Given the description of an element on the screen output the (x, y) to click on. 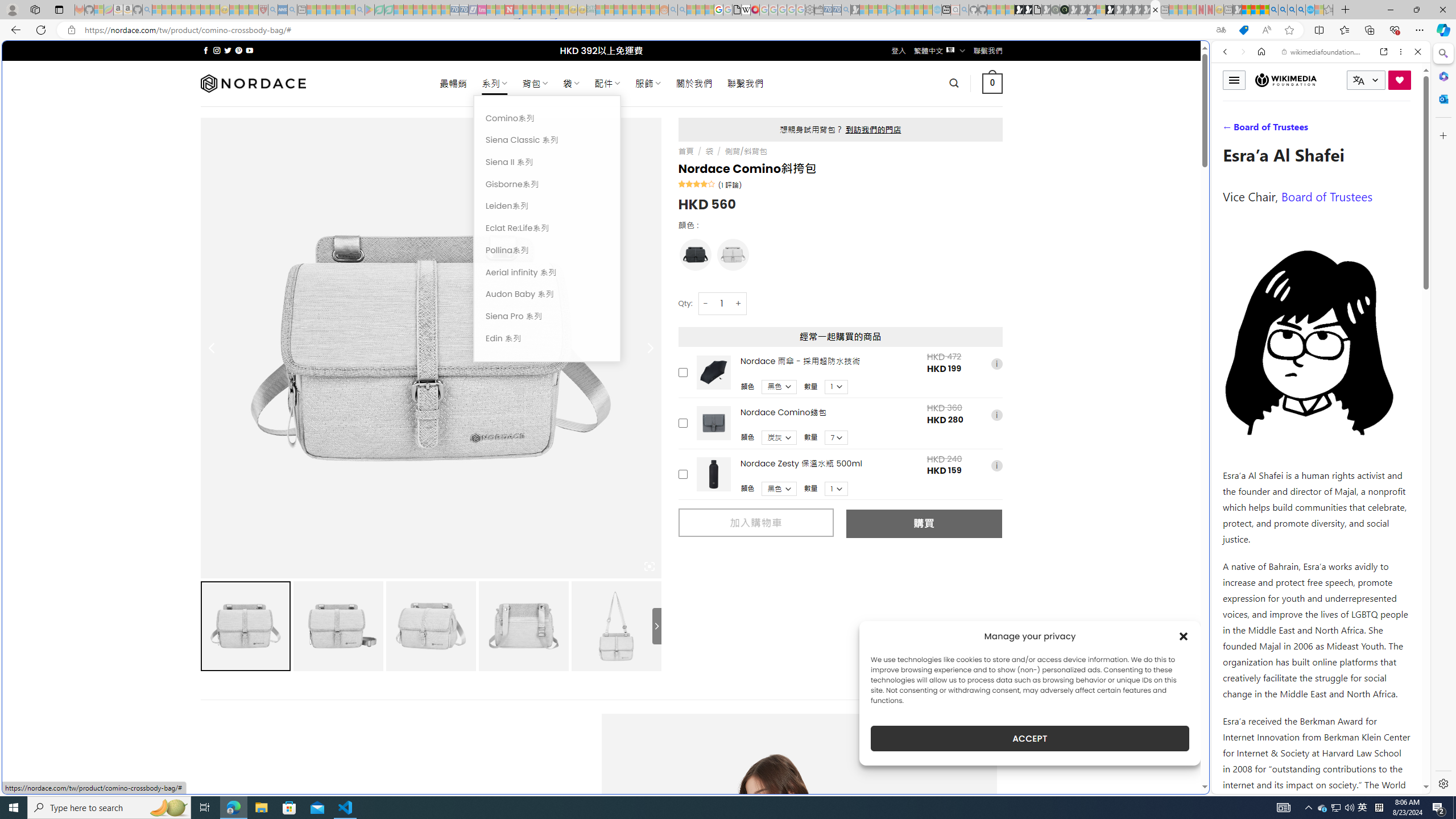
Microsoft account | Privacy - Sleeping (882, 9)
Play Free Online Games | Games from Microsoft Start (1018, 9)
Microsoft Start - Sleeping (919, 9)
